Given the description of an element on the screen output the (x, y) to click on. 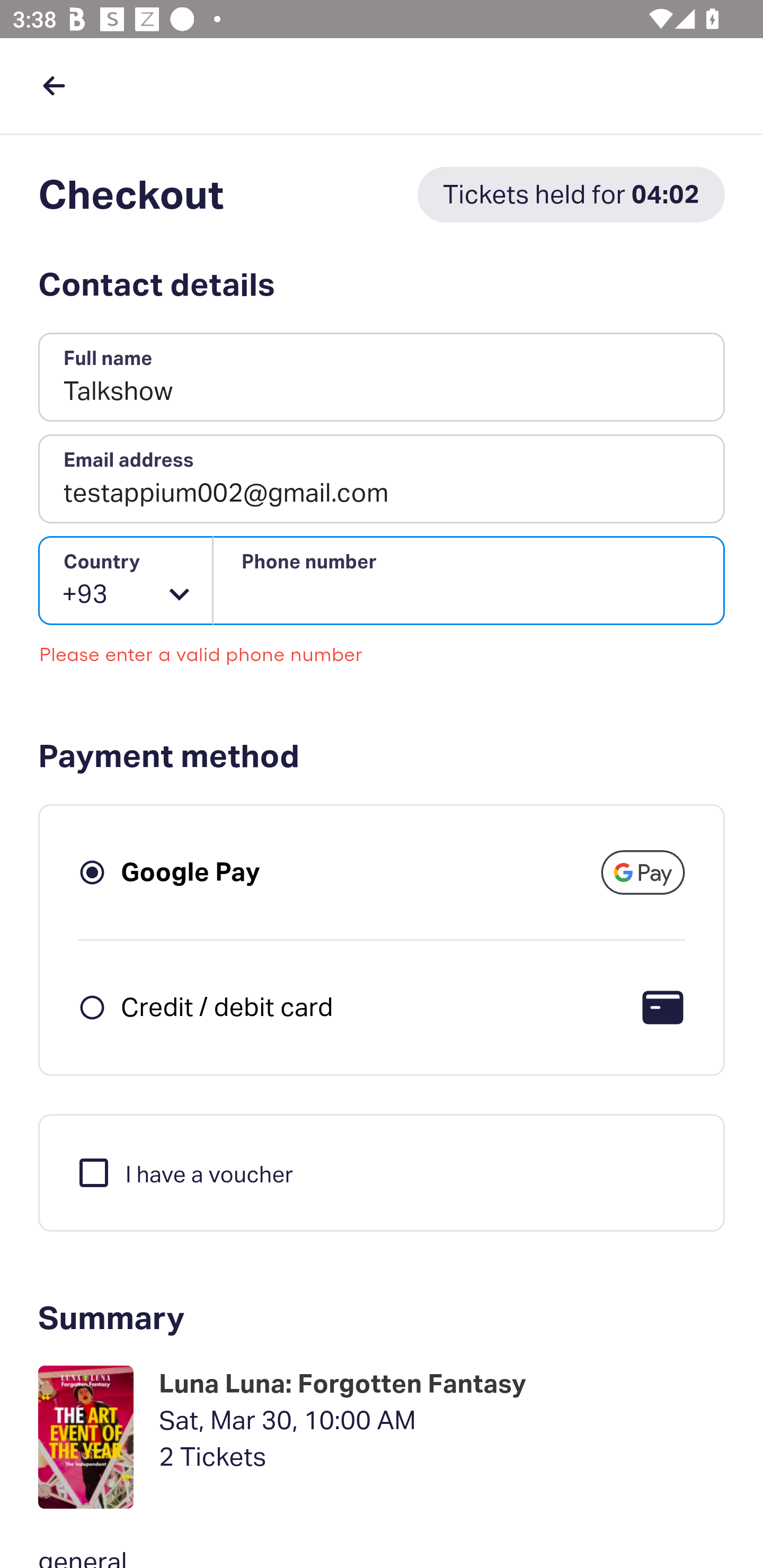
back button (53, 85)
Talkshow (381, 377)
testappium002@gmail.com (381, 478)
  +93 (126, 580)
Google Pay (190, 871)
Credit / debit card (227, 1006)
I have a voucher (183, 1171)
